Given the description of an element on the screen output the (x, y) to click on. 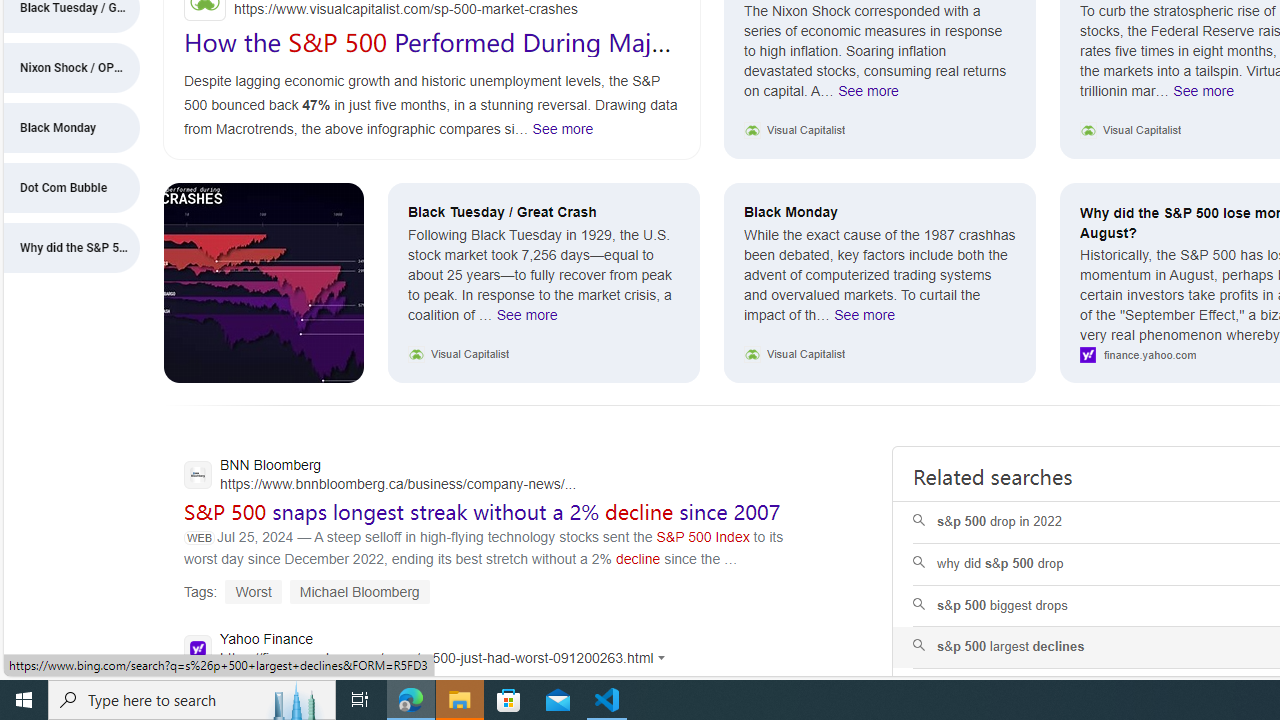
Actions for this site (664, 658)
Global web icon (197, 648)
Yahoo Finance (430, 650)
See more Black Tuesday / Great Crash (527, 319)
See more Dot Com Bubble (1203, 95)
See more SnippetTab (562, 128)
How the S&P 500 Performed During Major Market Crashes (429, 56)
See more Nixon Shock / OPEC Oil Embargo (868, 95)
S&P 500 snaps longest streak without a 2% decline since 2007 (482, 511)
BNN Bloomberg (380, 476)
